Given the description of an element on the screen output the (x, y) to click on. 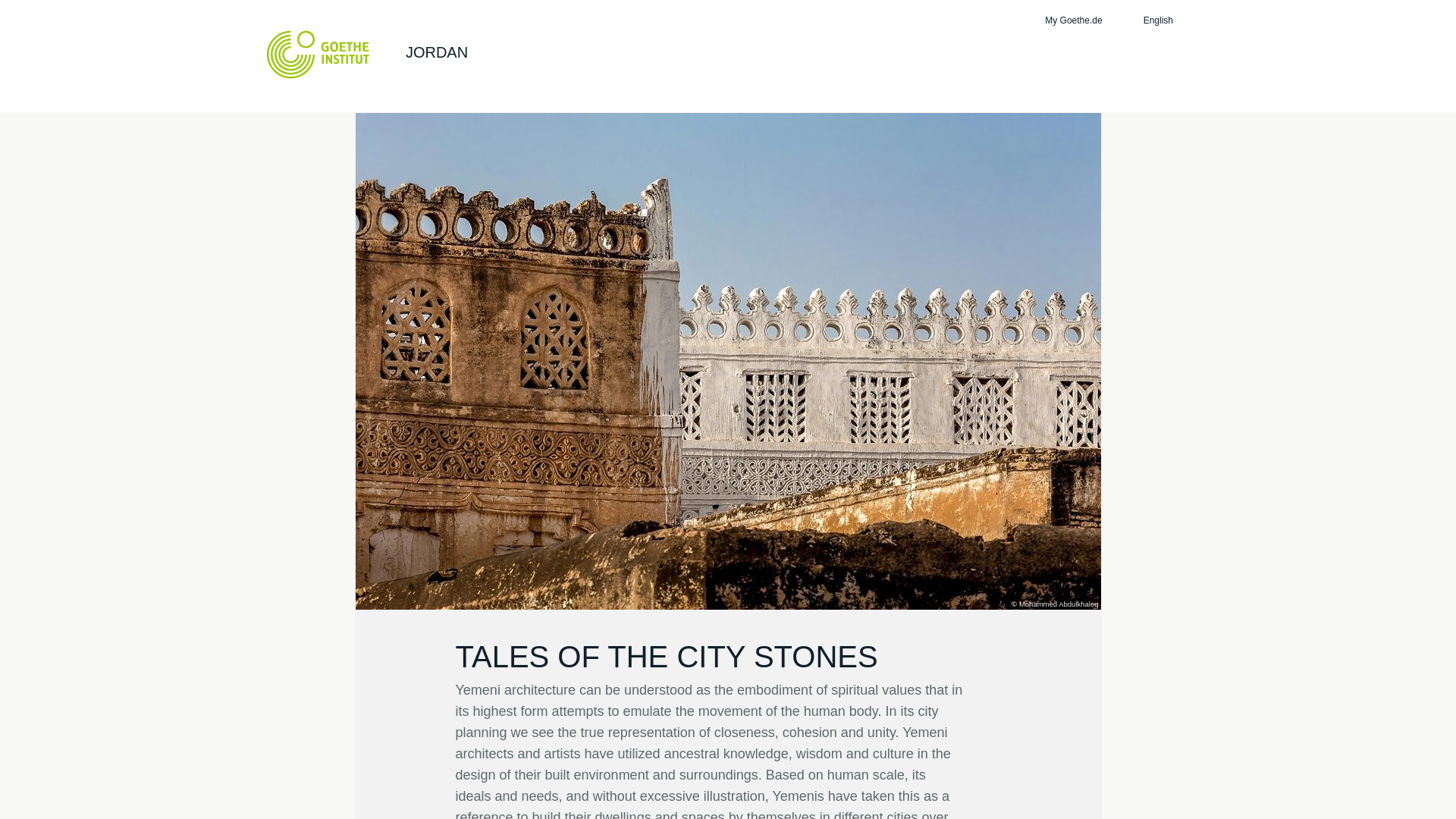
English (1165, 20)
Claim Goethe Institut (317, 54)
My Goethe.de (1070, 20)
Claim Goethe Institut (317, 54)
